Given the description of an element on the screen output the (x, y) to click on. 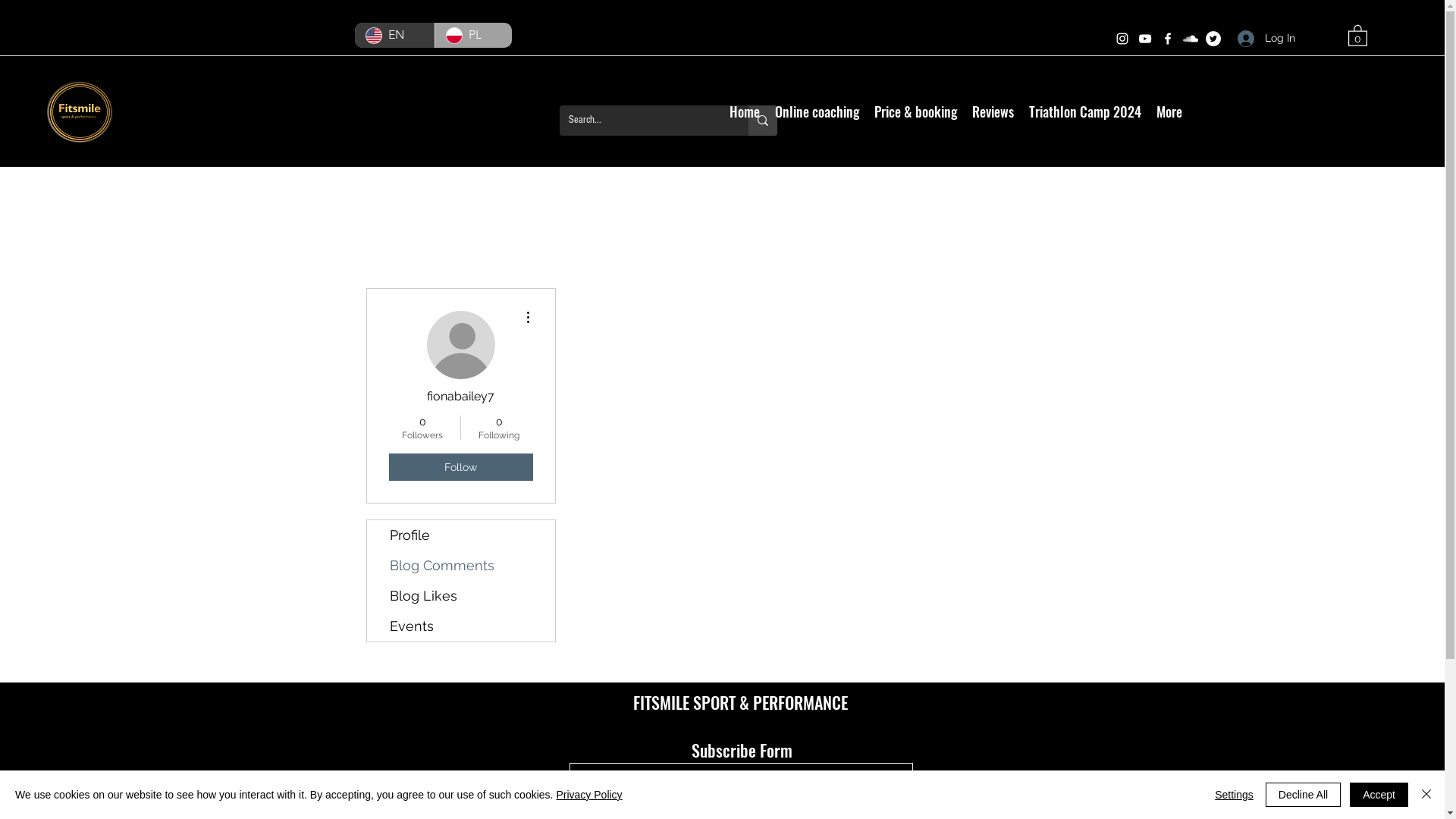
Log In Element type: text (1265, 38)
Decline All Element type: text (1302, 794)
Blog Comments Element type: text (461, 565)
Accept Element type: text (1378, 794)
Events Element type: text (461, 626)
Online coaching Element type: text (816, 111)
0
Followers Element type: text (421, 427)
Privacy Policy Element type: text (588, 794)
Blog Likes Element type: text (461, 595)
0 Element type: text (1357, 34)
Home Element type: text (744, 111)
Price & booking Element type: text (914, 111)
FITSMILE SPORT & PERFORMANCE Element type: text (740, 702)
Triathlon Camp 2024 Element type: text (1084, 111)
Reviews Element type: text (992, 111)
0
Following Element type: text (499, 427)
Profile Element type: text (461, 535)
Follow Element type: text (460, 466)
